Given the description of an element on the screen output the (x, y) to click on. 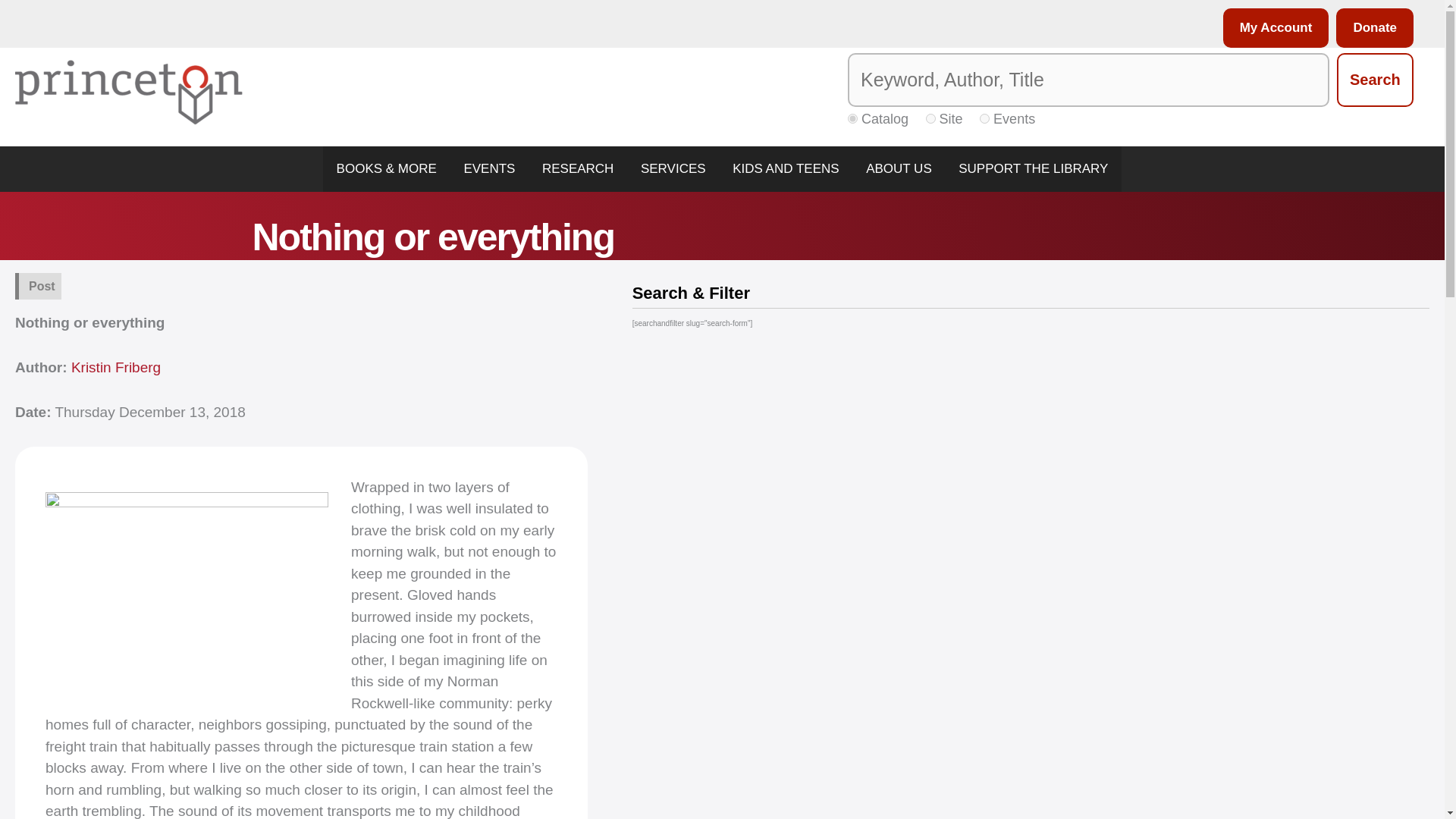
events (984, 118)
Search (1374, 80)
EVENTS (489, 168)
Kristin Friberg (115, 367)
Search (1374, 80)
SERVICES (673, 168)
KIDS AND TEENS (785, 168)
catalog (852, 118)
Search (1374, 80)
RESEARCH (577, 168)
